Given the description of an element on the screen output the (x, y) to click on. 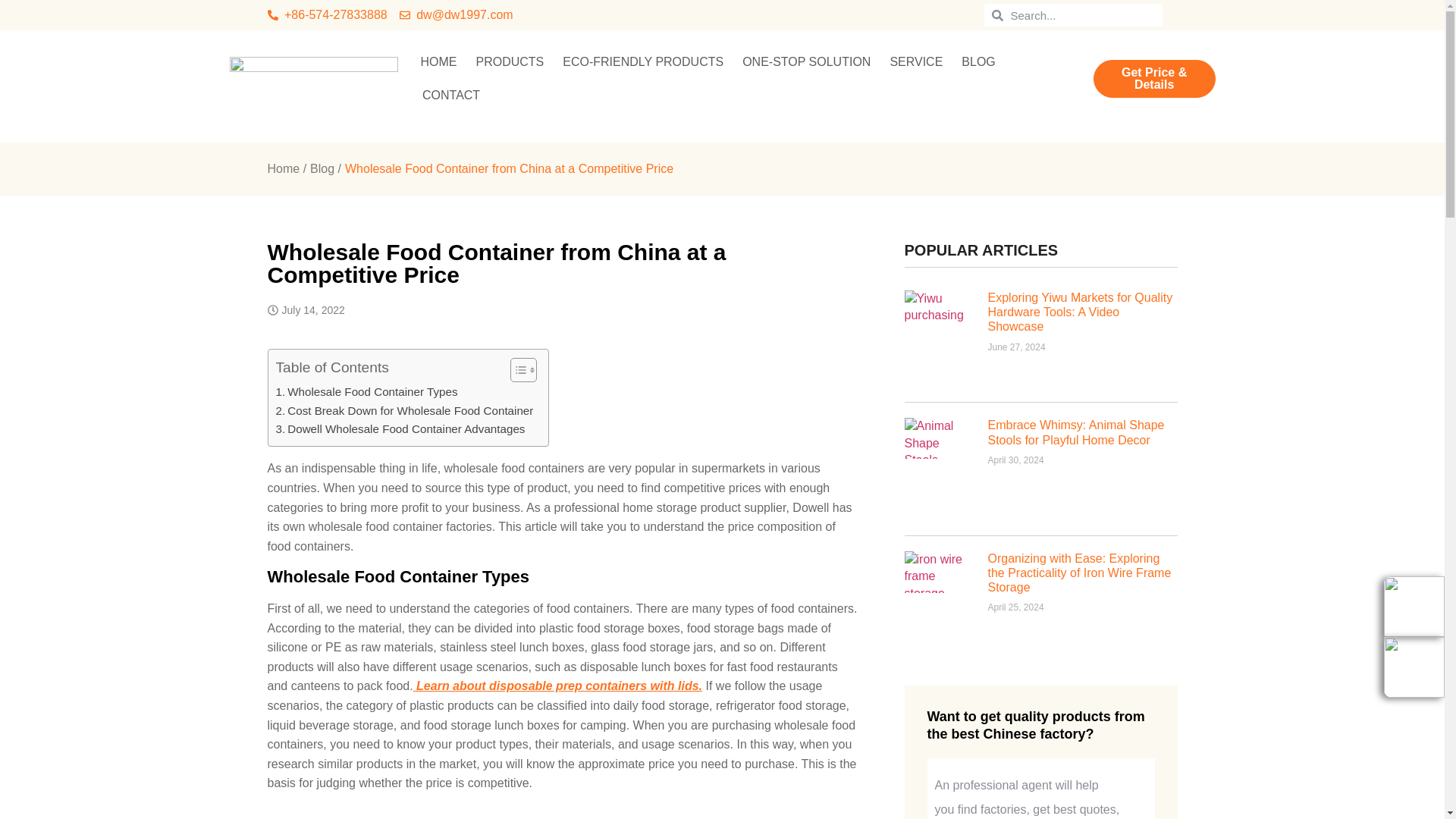
ECO-FRIENDLY PRODUCTS (642, 61)
Wholesale Food Container Types (367, 392)
Cost Break Down for Wholesale Food Container (405, 411)
Dowell Wholesale Food Container Advantages (400, 429)
CONTACT (450, 95)
SERVICE (916, 61)
ONE-STOP SOLUTION (806, 61)
HOME (438, 61)
BLOG (978, 61)
PRODUCTS (509, 61)
